Given the description of an element on the screen output the (x, y) to click on. 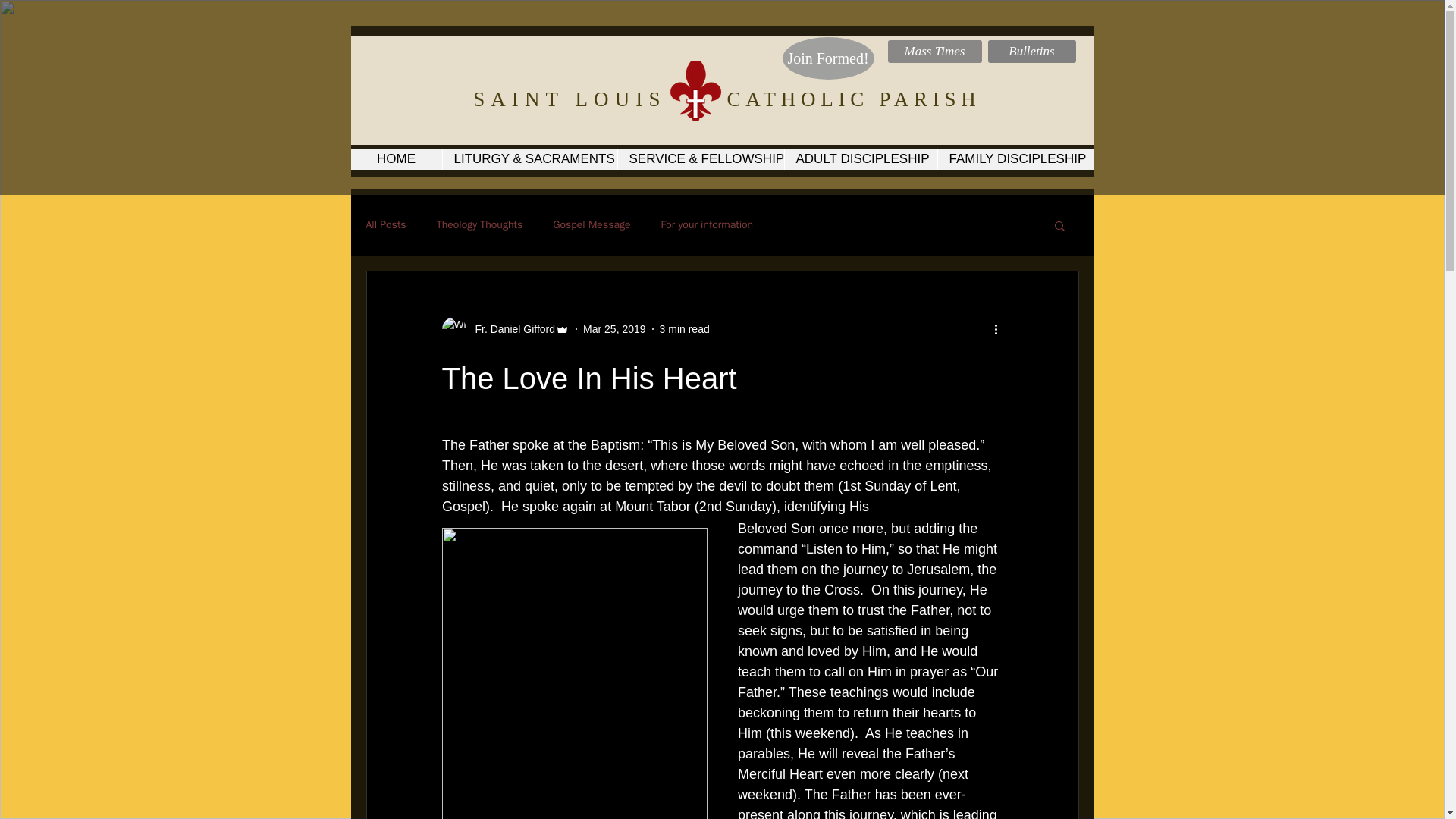
Mass Times (933, 51)
All Posts (385, 224)
FAMILY DISCIPLESHIP (1015, 158)
Fr. Daniel Gifford (509, 329)
For your information (707, 224)
Gospel Message (591, 224)
3 min read (684, 328)
Fr. Daniel Gifford (505, 328)
Bulletins (1031, 51)
Mar 25, 2019 (614, 328)
Join Formed! (829, 57)
Theology Thoughts (479, 224)
